Given the description of an element on the screen output the (x, y) to click on. 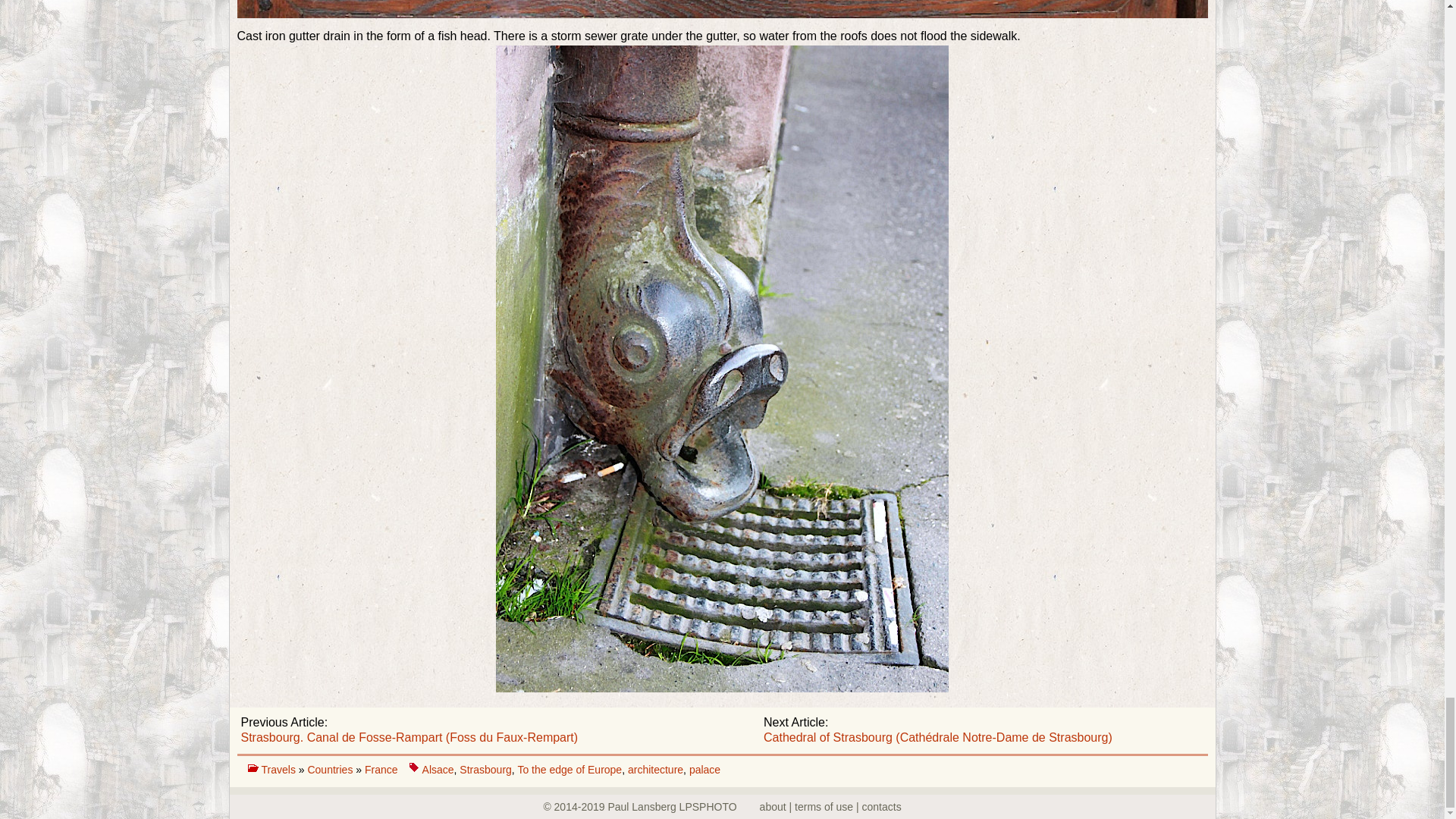
Palais Rohan (721, 9)
To the edge of Europe (568, 769)
palace (704, 769)
Alsace (438, 769)
architecture (654, 769)
Countries (331, 769)
Strasbourg (485, 769)
France (381, 769)
Travels (279, 769)
